Given the description of an element on the screen output the (x, y) to click on. 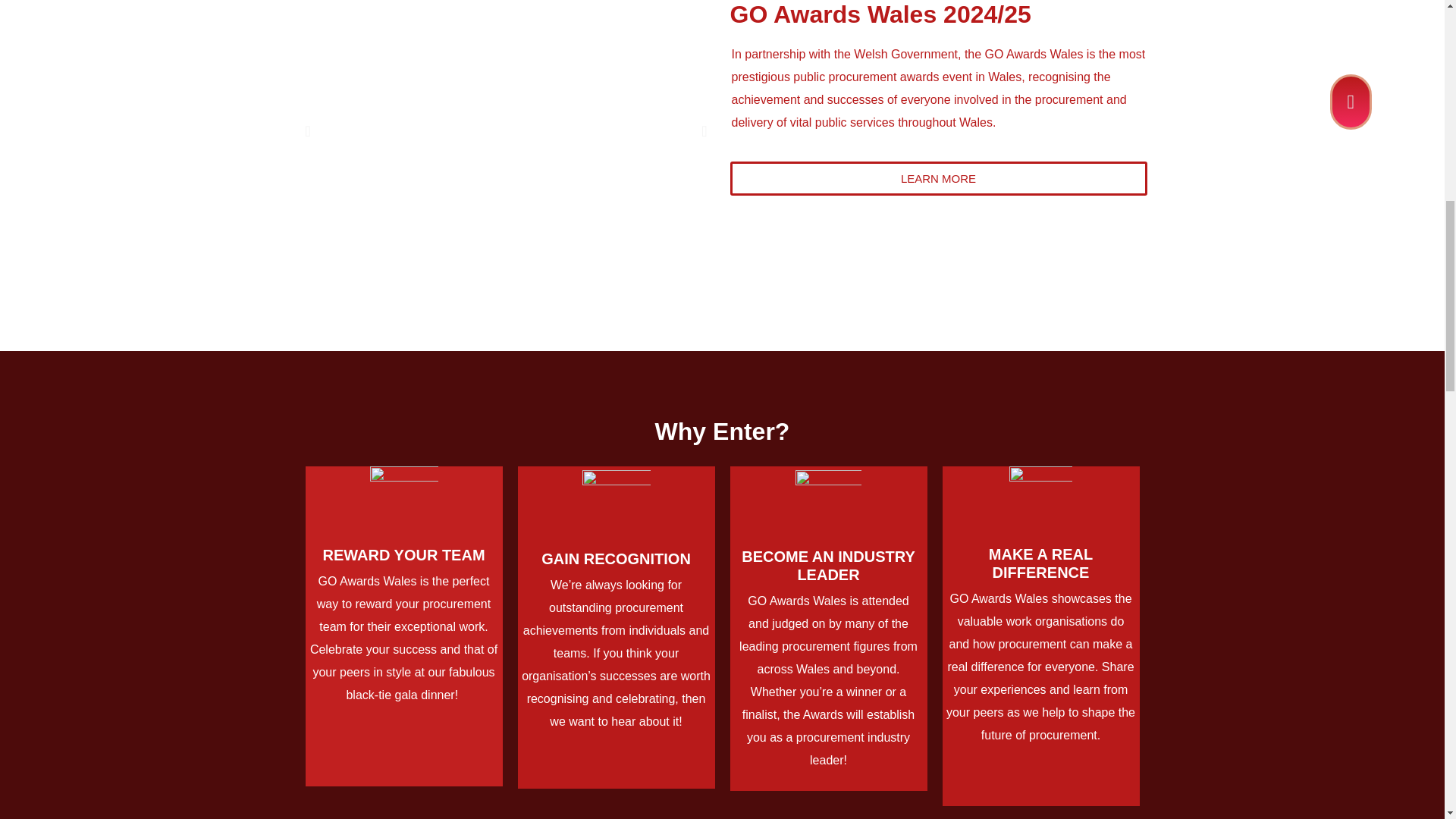
LEARN MORE (938, 178)
